Given the description of an element on the screen output the (x, y) to click on. 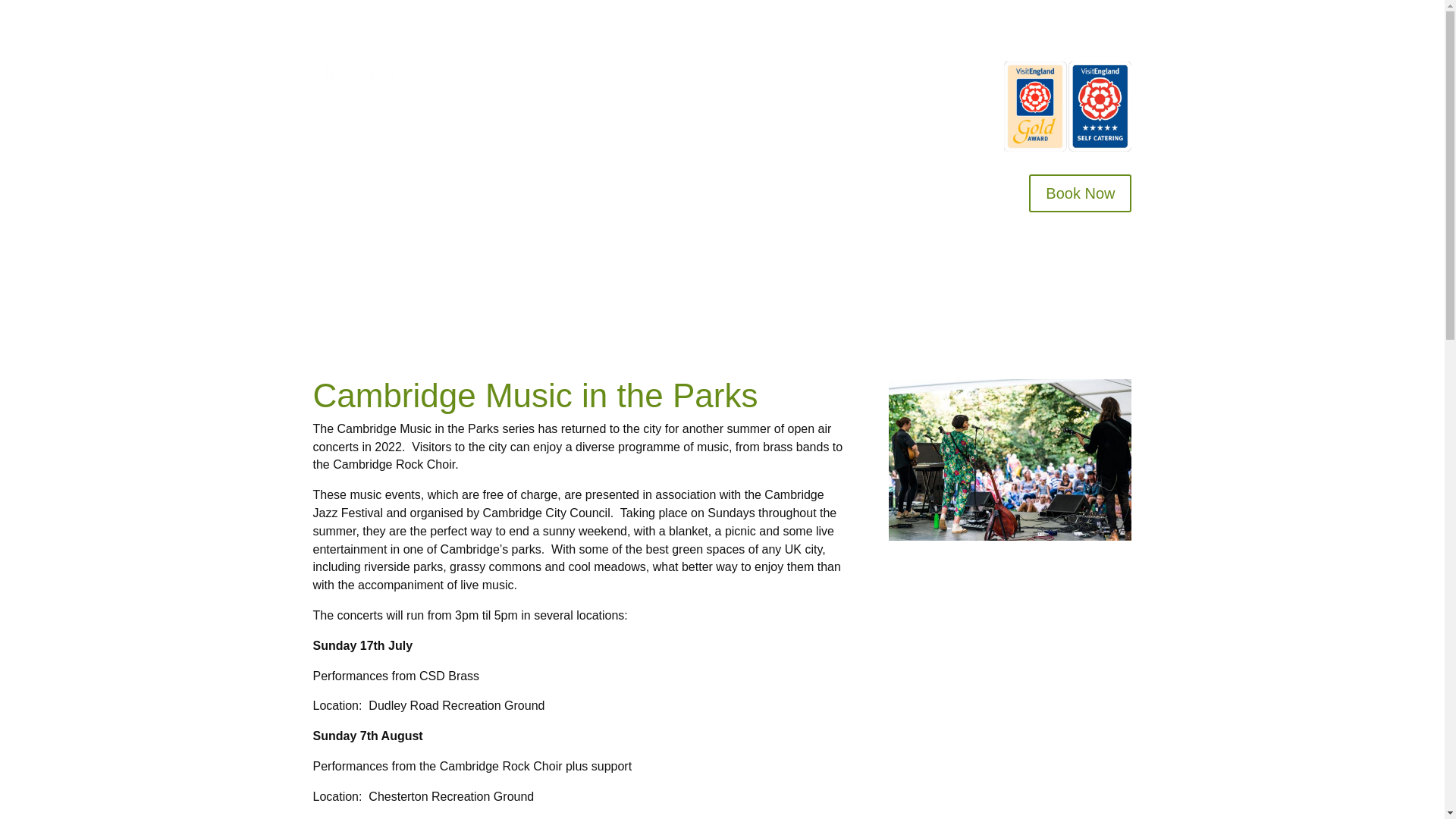
Book Now (1080, 193)
Business (807, 75)
Our Barns (572, 75)
Gallery (871, 75)
Locally (932, 75)
Book! (629, 75)
5stargoldVE-sm (1067, 106)
News (945, 98)
Home (514, 75)
Groups (739, 75)
